Given the description of an element on the screen output the (x, y) to click on. 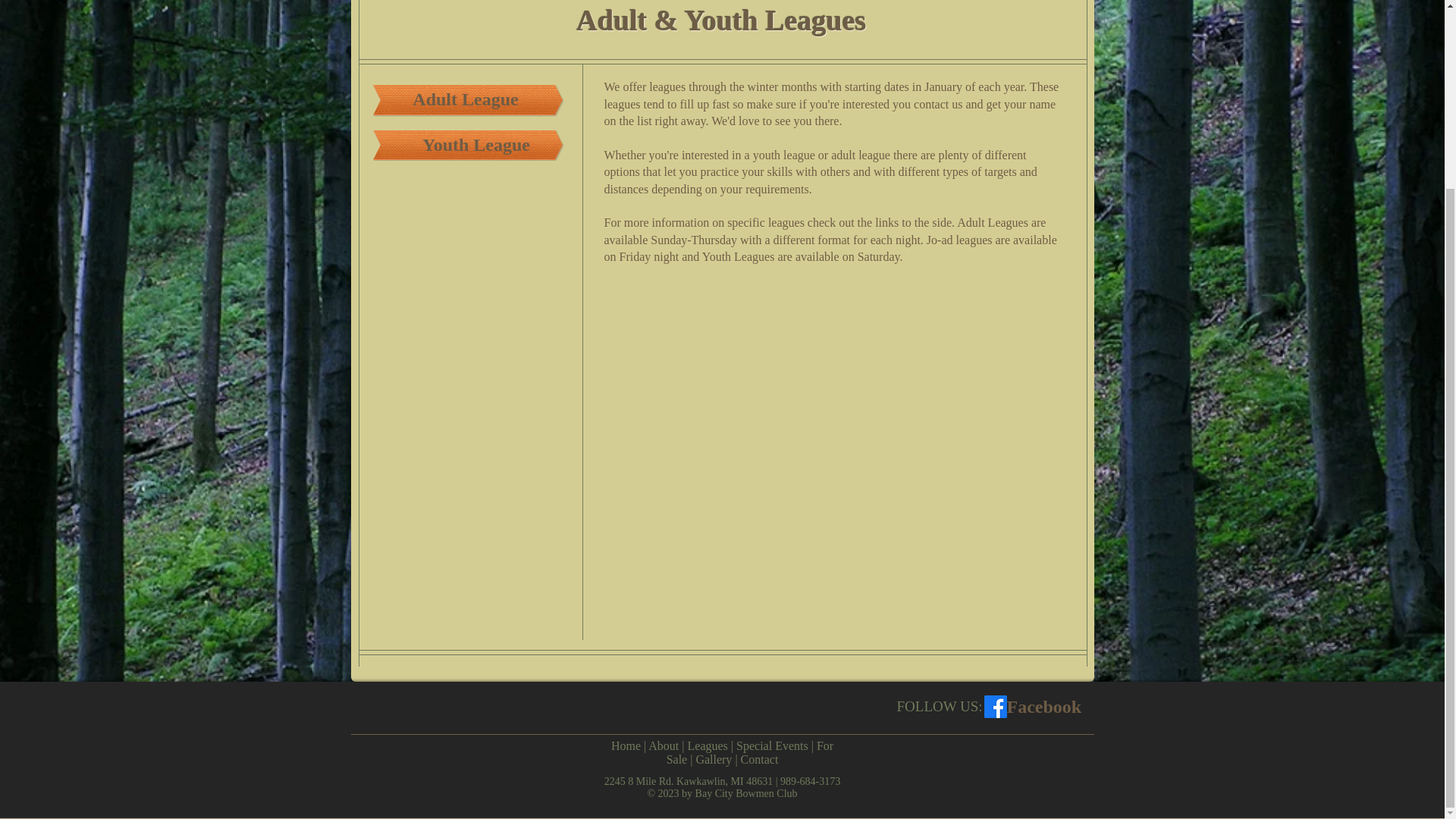
Adult League (465, 99)
Youth League (476, 145)
Leagues (707, 745)
For Sale (749, 752)
About (662, 745)
Gallery (713, 758)
Home (625, 745)
Special Events (772, 745)
Facebook (1044, 706)
